Given the description of an element on the screen output the (x, y) to click on. 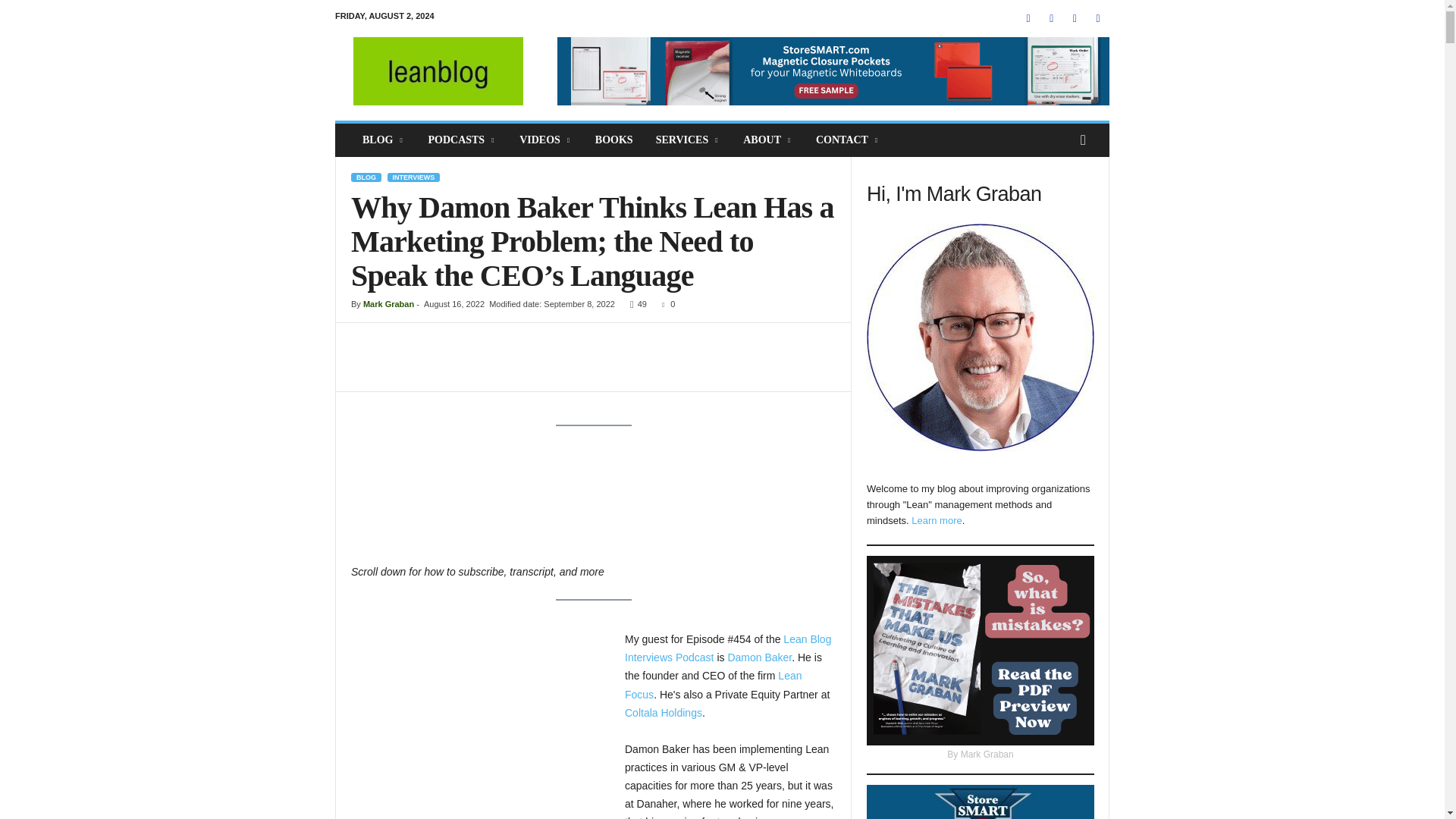
Home (438, 70)
